Given the description of an element on the screen output the (x, y) to click on. 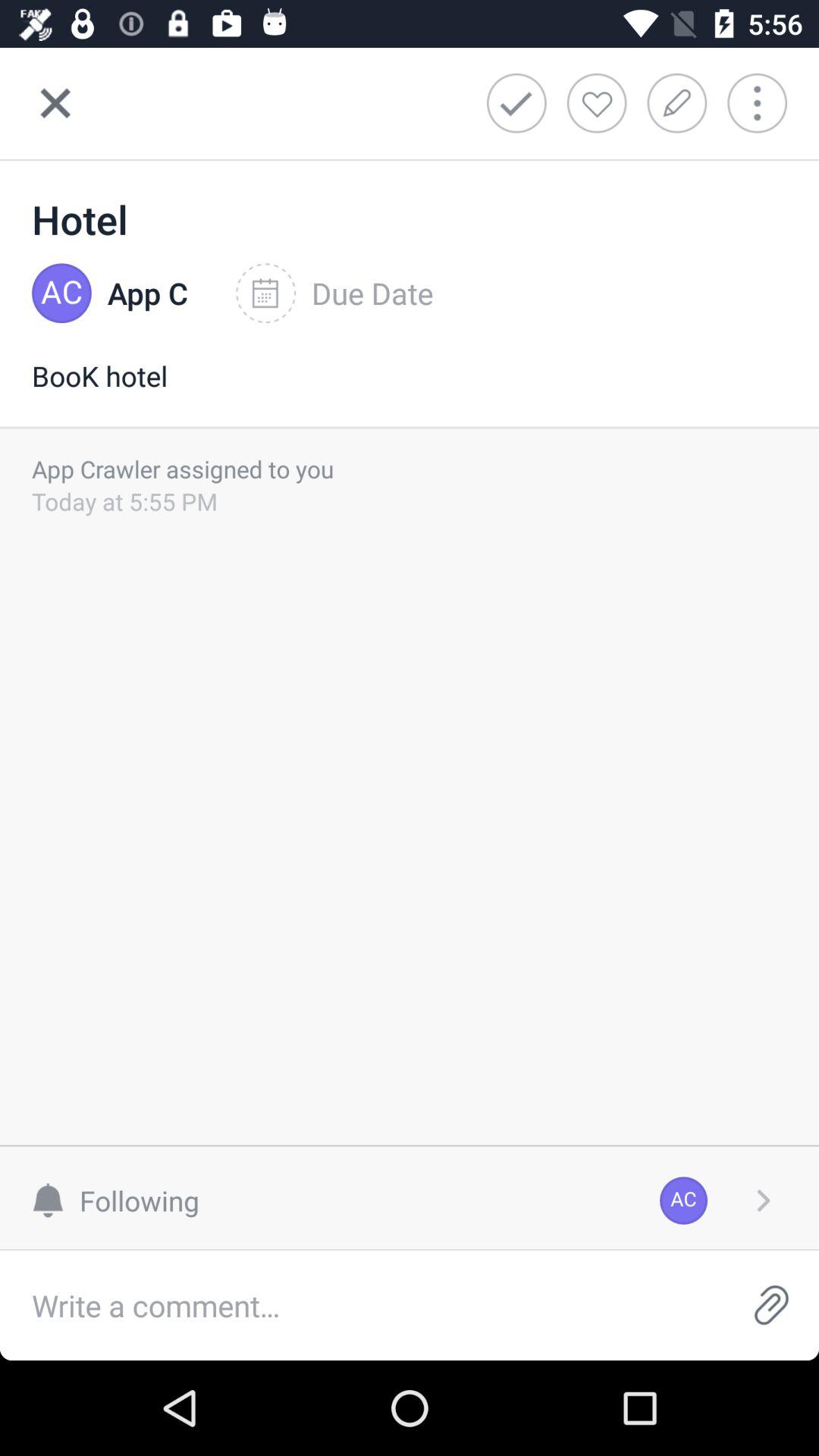
go to comments option (361, 1305)
